Given the description of an element on the screen output the (x, y) to click on. 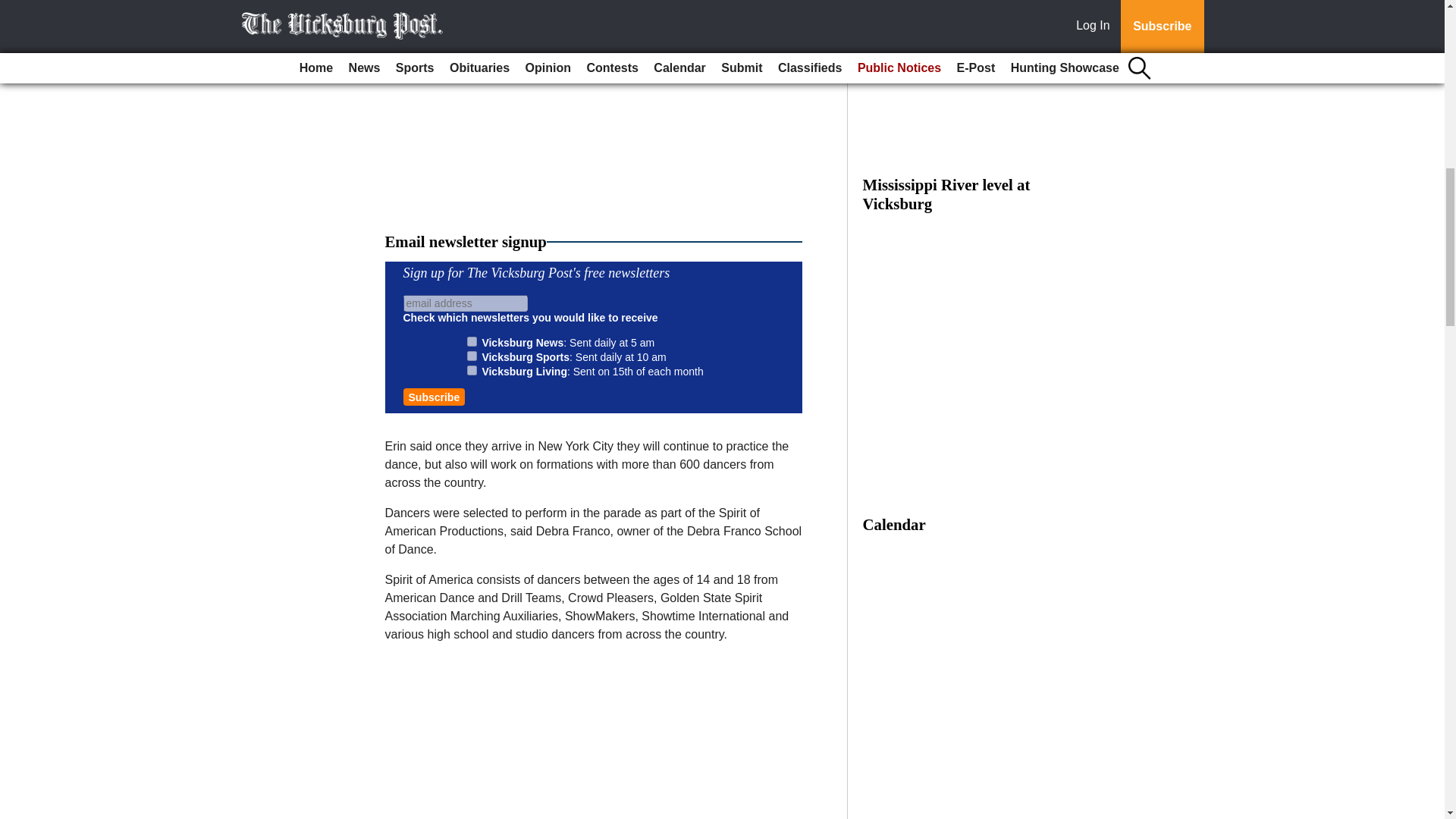
Subscribe (434, 396)
1 (472, 341)
2 (472, 356)
Subscribe (434, 396)
